Given the description of an element on the screen output the (x, y) to click on. 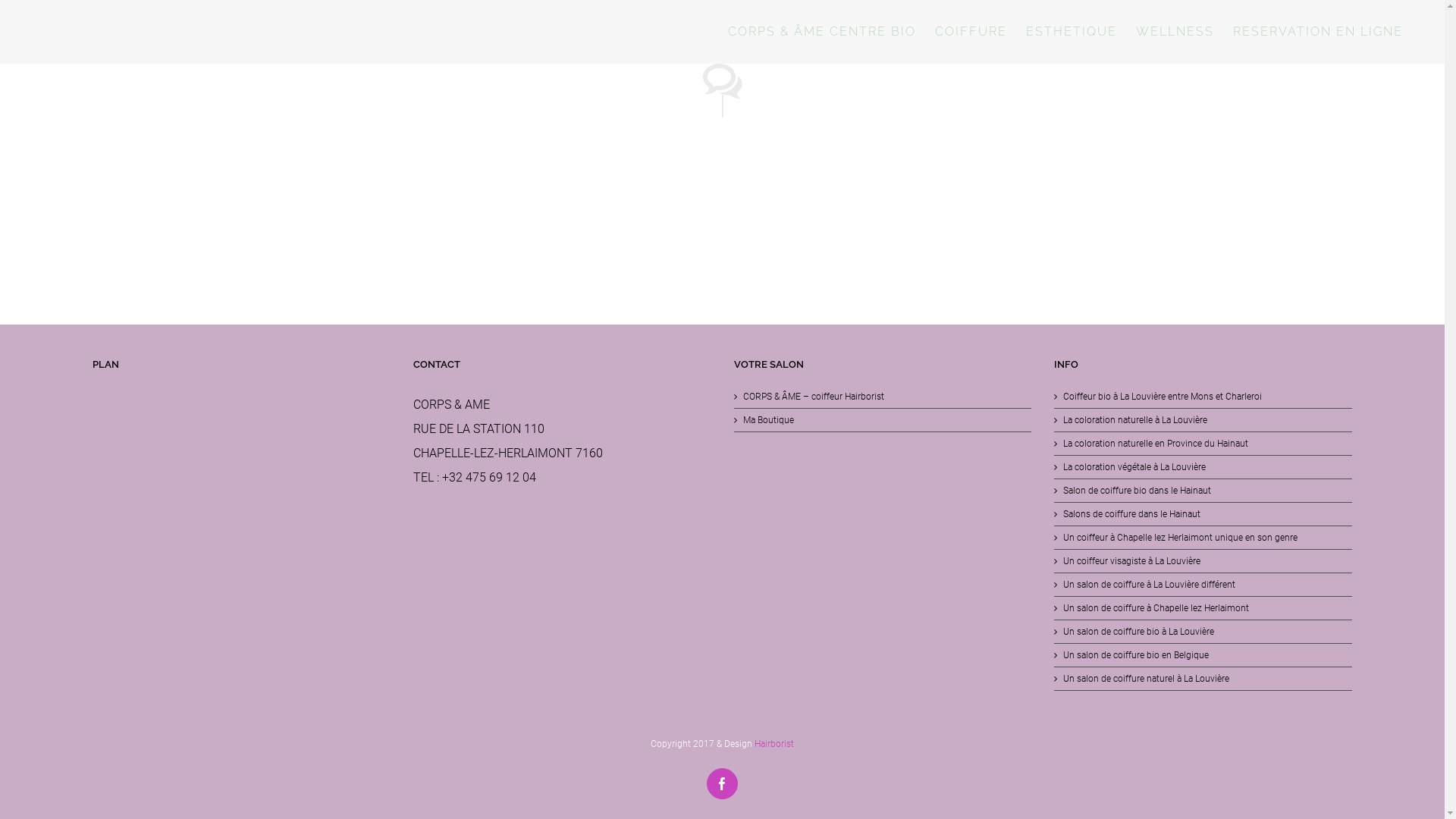
COIFFURE Element type: text (971, 31)
Salon de coiffure bio dans le Hainaut Element type: text (1203, 490)
Salons de coiffure dans le Hainaut Element type: text (1203, 513)
Hairborist Element type: text (773, 743)
La coloration naturelle en Province du Hainaut Element type: text (1203, 443)
Facebook Element type: text (721, 783)
Ma Boutique Element type: text (883, 419)
ESTHETIQUE Element type: text (1071, 31)
RESERVATION EN LIGNE Element type: text (1317, 31)
Un salon de coiffure bio en Belgique Element type: text (1203, 654)
WELLNESS Element type: text (1174, 31)
